Given the description of an element on the screen output the (x, y) to click on. 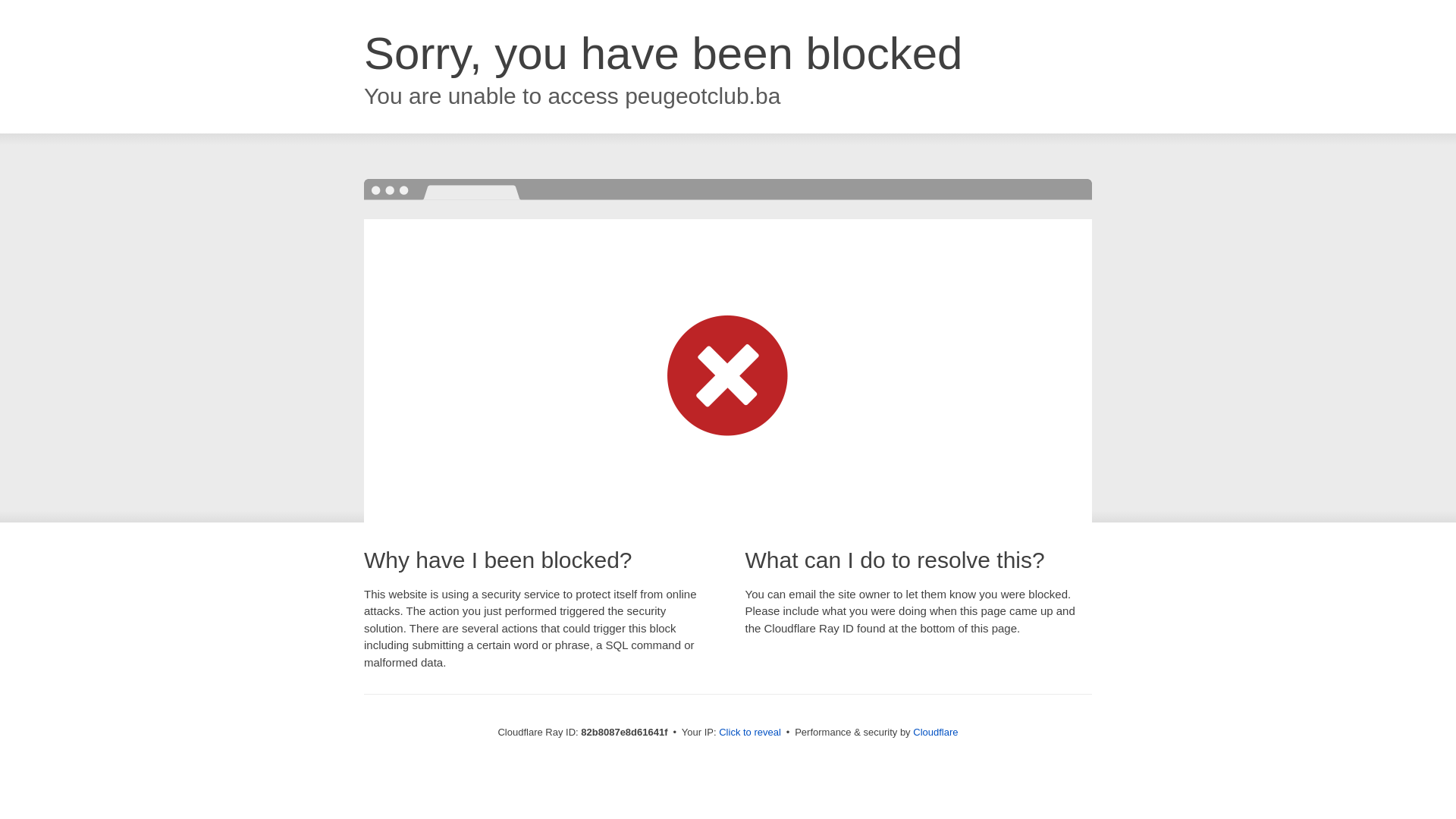
Click to reveal Element type: text (749, 732)
Cloudflare Element type: text (935, 731)
